Given the description of an element on the screen output the (x, y) to click on. 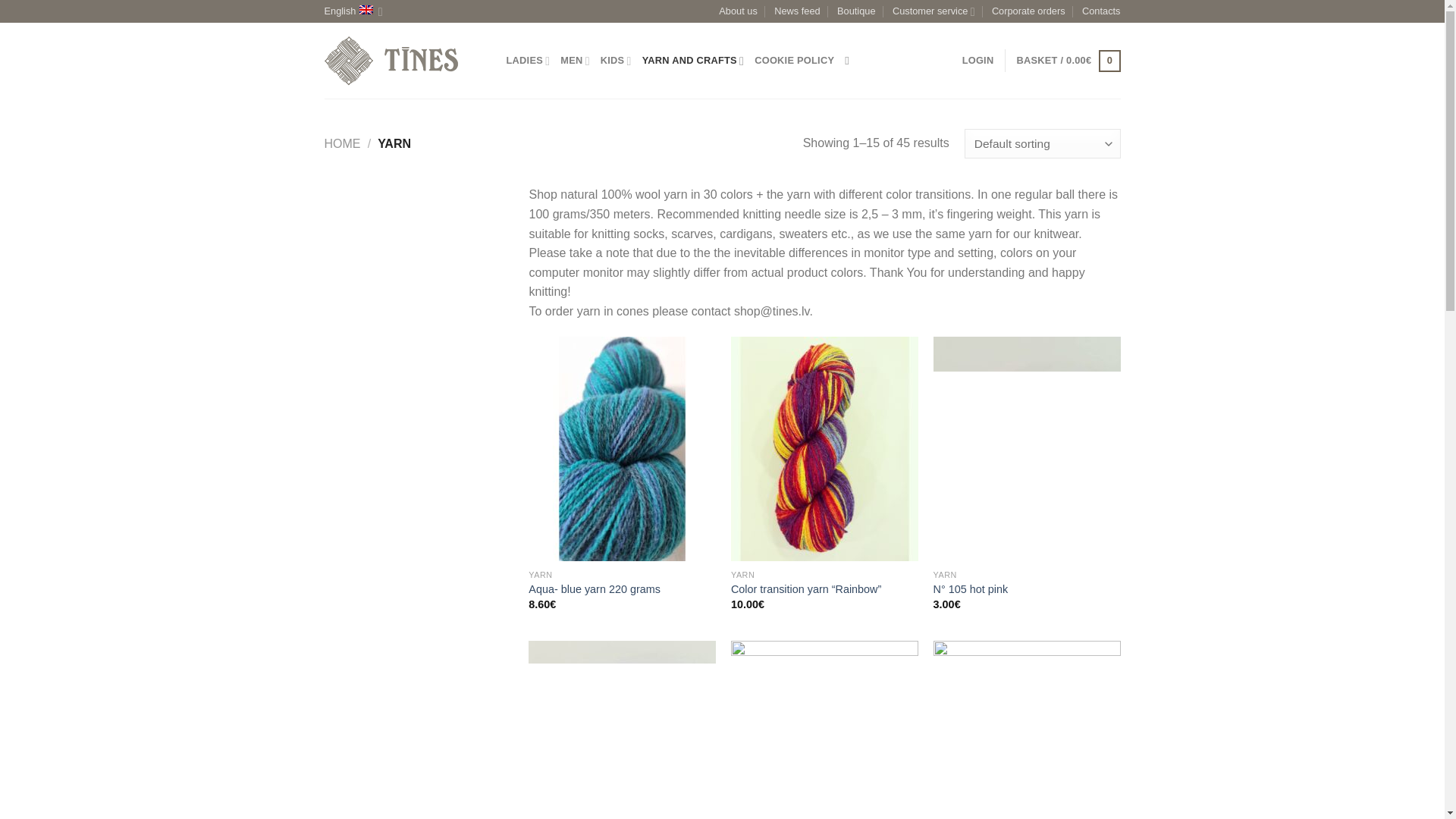
KIDS (615, 60)
News feed (796, 11)
Boutique (856, 11)
Basket (1067, 61)
MEN (574, 60)
Contacts (1101, 11)
LADIES (528, 60)
Corporate orders (1028, 11)
About us (738, 11)
English (353, 11)
